Given the description of an element on the screen output the (x, y) to click on. 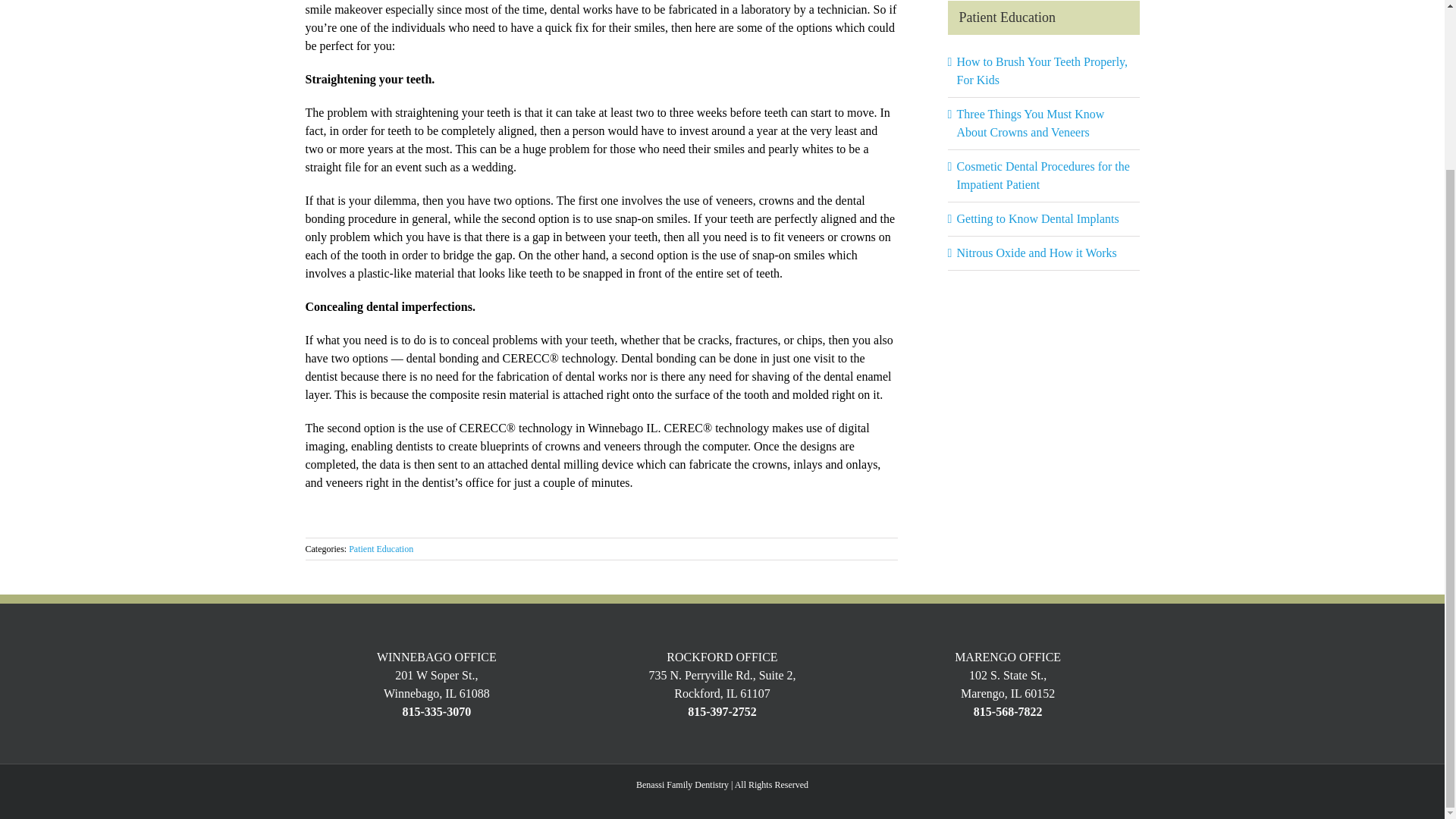
Nitrous Oxide and How it Works (1036, 252)
How to Brush Your Teeth Properly, For Kids (1042, 70)
Patient Education (381, 548)
Cosmetic Dental Procedures for the Impatient Patient (1042, 174)
Three Things You Must Know About Crowns and Veneers (1030, 122)
Getting to Know Dental Implants (1037, 218)
